Given the description of an element on the screen output the (x, y) to click on. 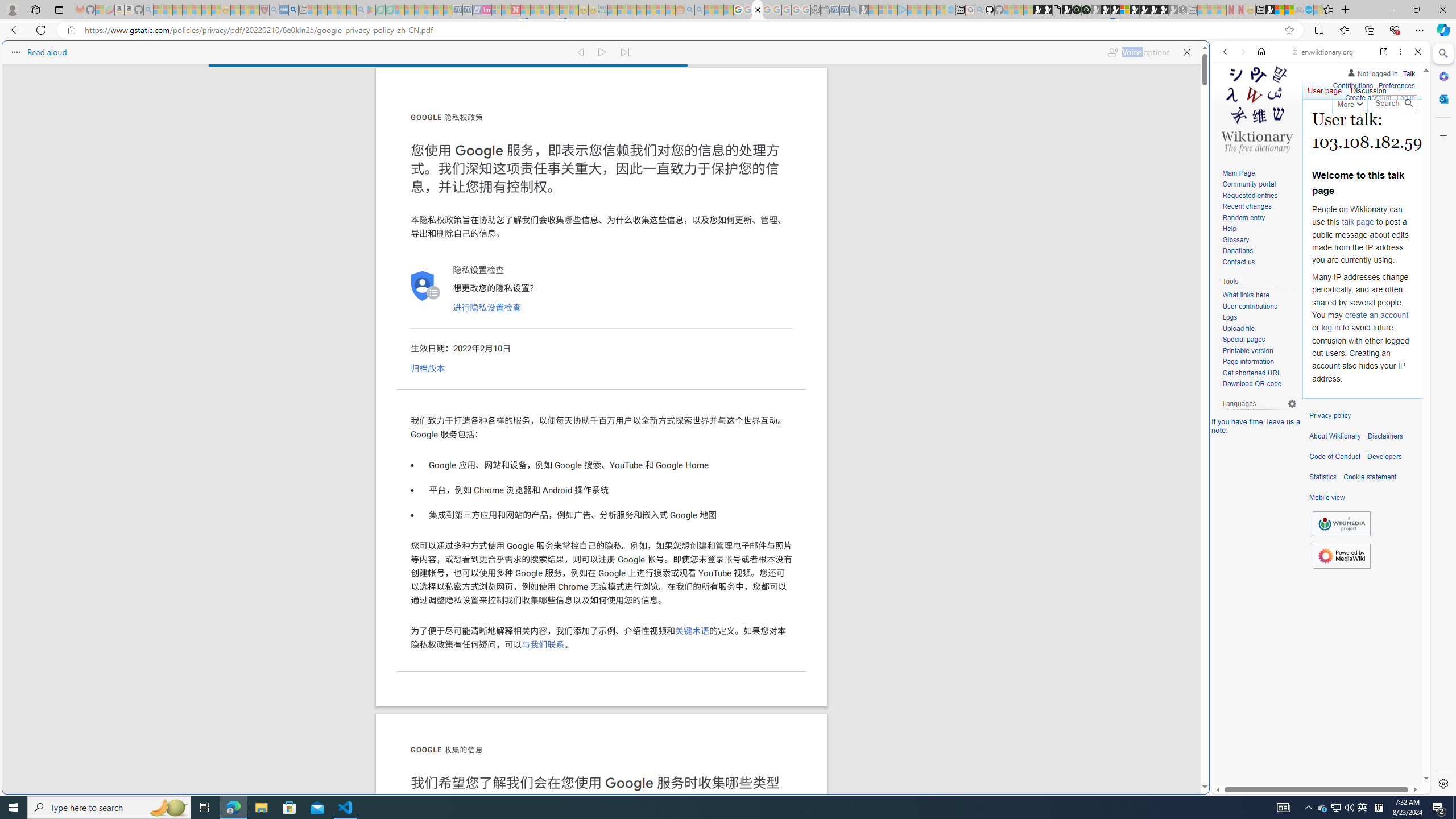
Disclaimers (1385, 436)
Talk (1408, 73)
Log in (1405, 96)
Talk (1408, 71)
Printable version (1259, 351)
Class: b_serphb (1404, 130)
Developers (1384, 456)
Contributions (1352, 85)
